Given the description of an element on the screen output the (x, y) to click on. 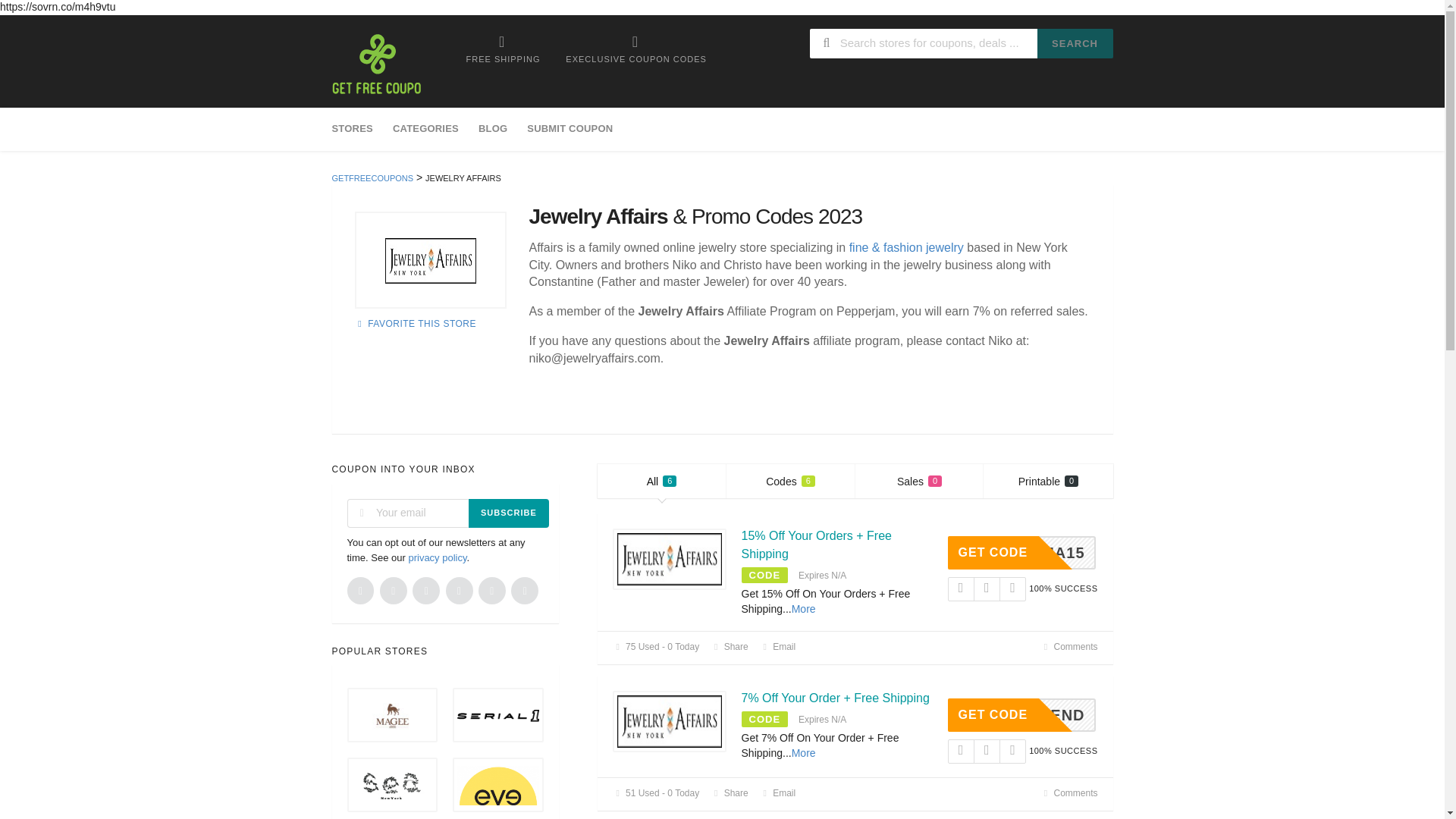
GETFREECOUPONS (372, 177)
Email (778, 646)
STORES (356, 128)
Send this coupon to an email (778, 646)
Share (791, 480)
More (920, 480)
BLOG (729, 792)
